Given the description of an element on the screen output the (x, y) to click on. 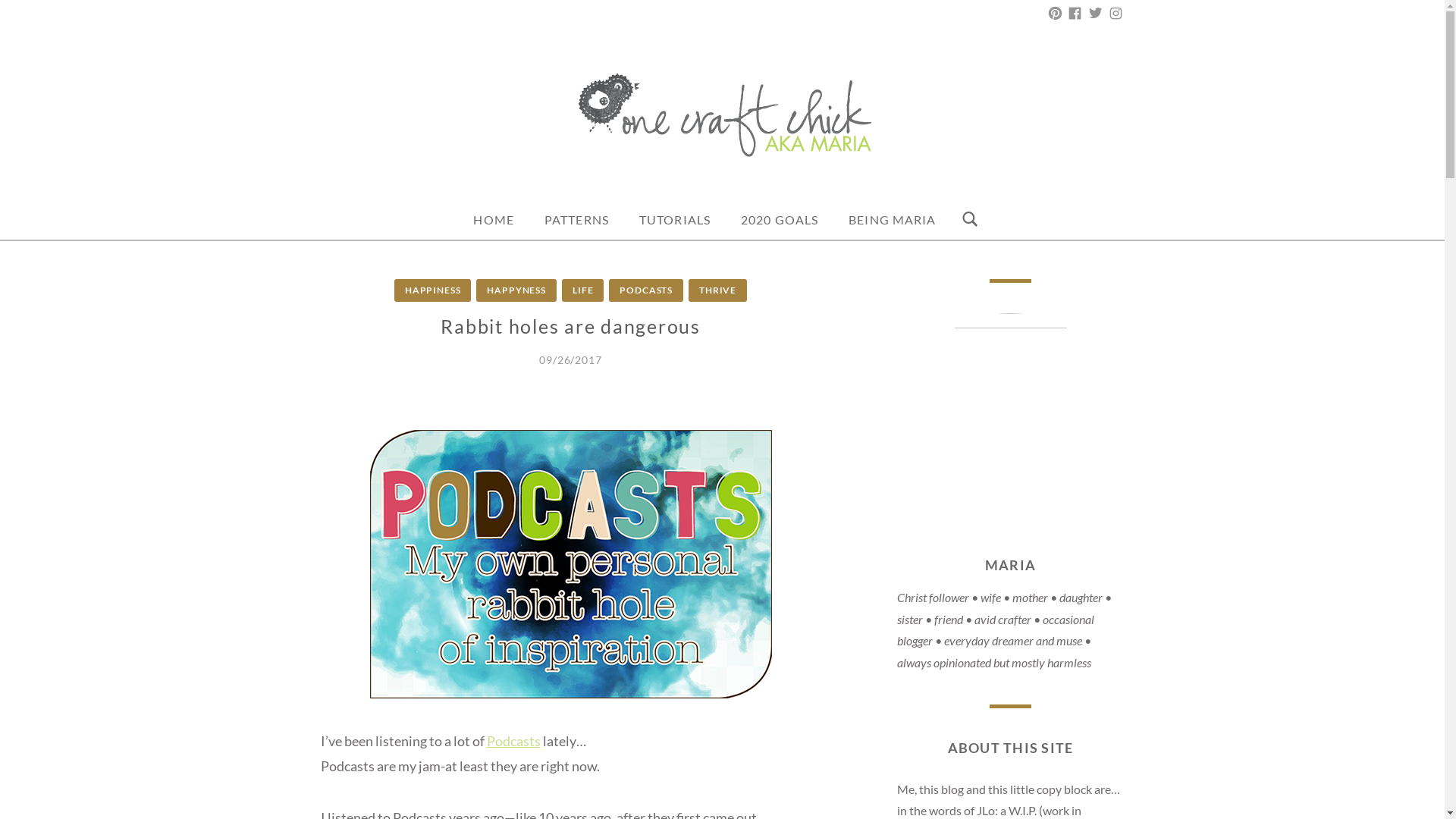
BEING MARIA (891, 219)
2020 GOALS (778, 219)
LIFE (583, 290)
HOME (493, 219)
PATTERNS (576, 219)
TUTORIALS (674, 219)
HAPPINESS (432, 290)
ONE CRAFT CHICK (468, 190)
THRIVE (717, 290)
Podcasts (513, 740)
